Given the description of an element on the screen output the (x, y) to click on. 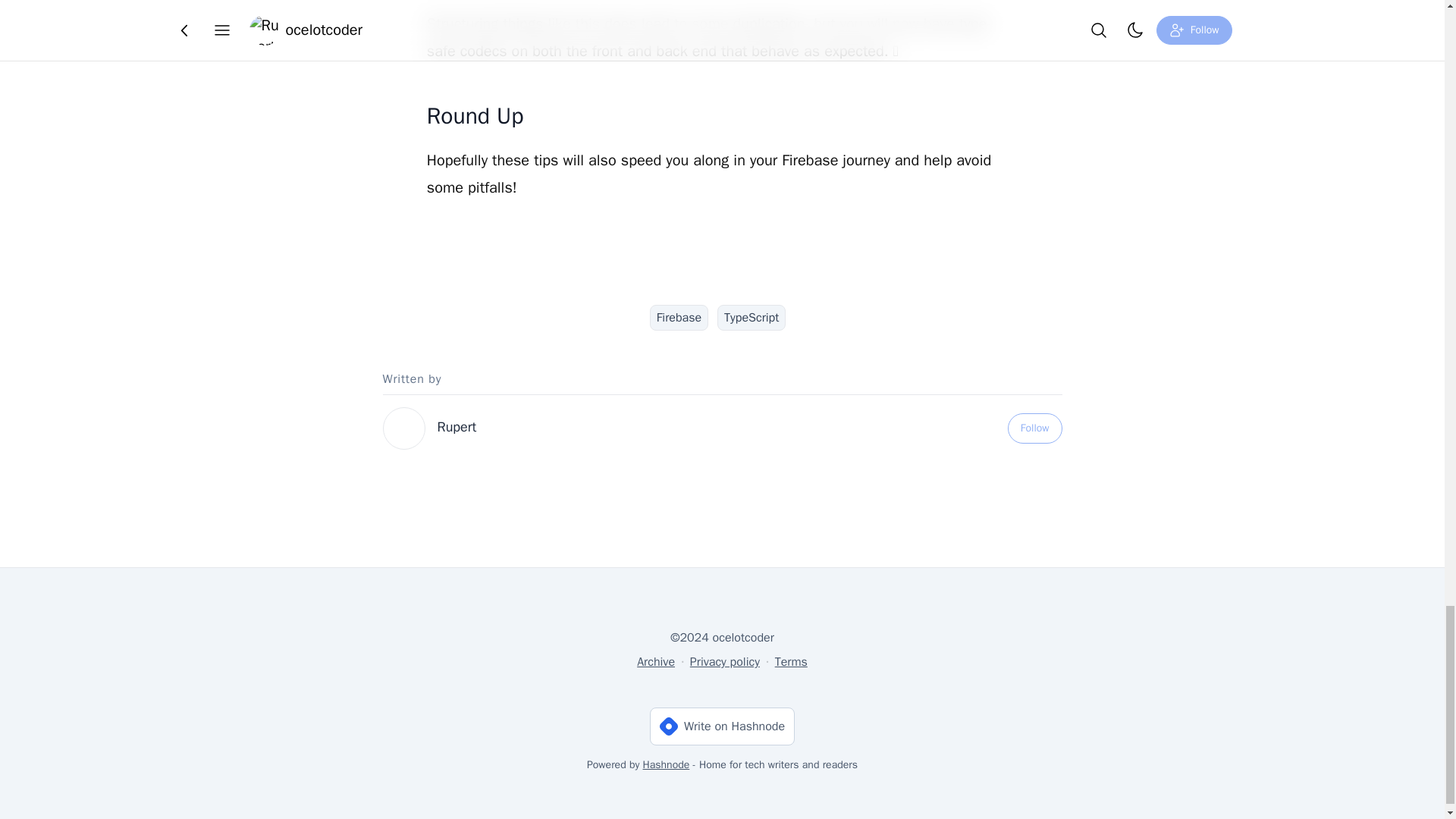
Firebase (678, 317)
Rupert (456, 426)
TypeScript (751, 317)
Follow (1034, 428)
